Given the description of an element on the screen output the (x, y) to click on. 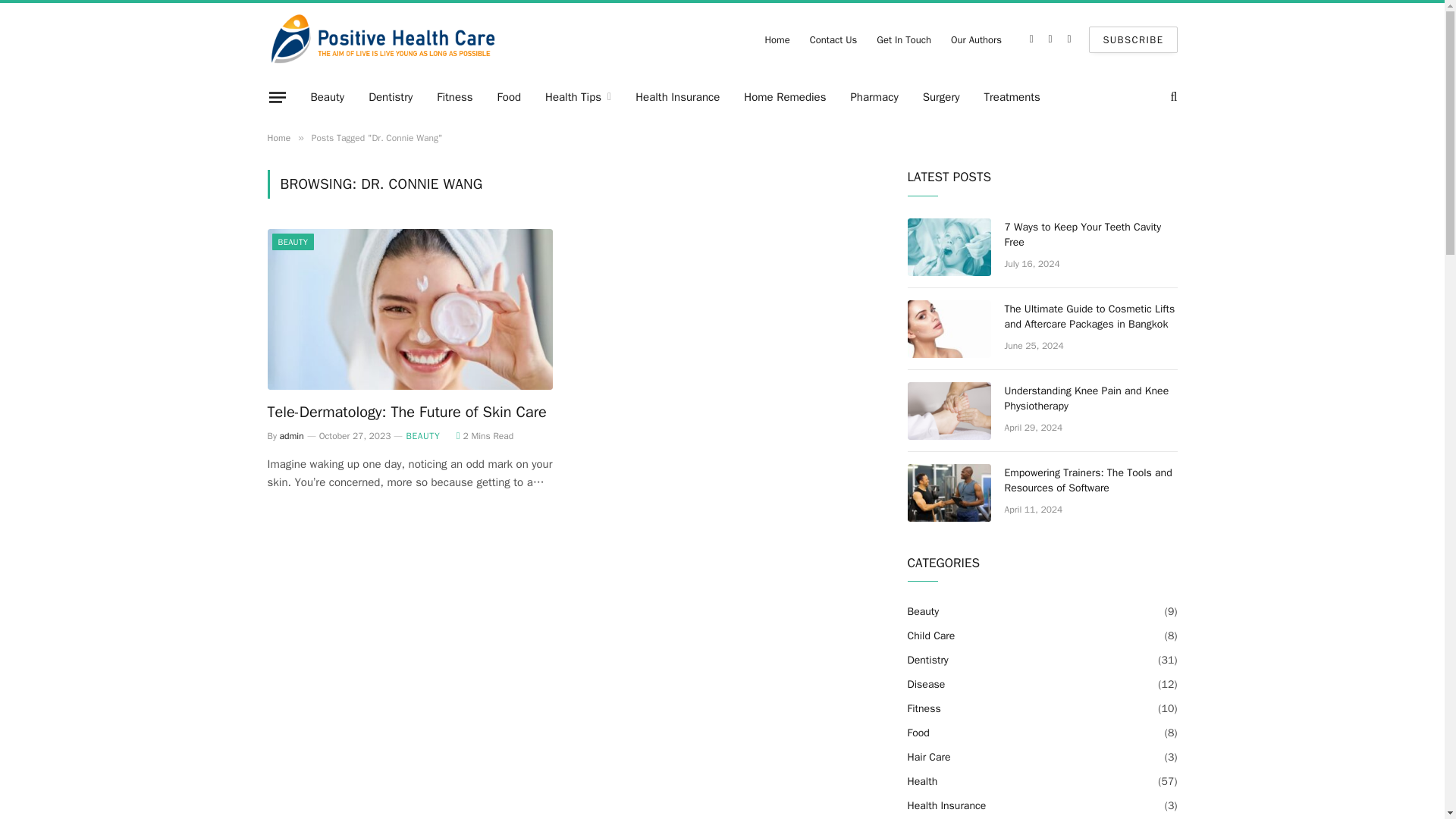
Positive Healthcare (381, 38)
Contact Us (833, 39)
Tele-Dermatology: The Future of Skin Care (408, 309)
Surgery (941, 96)
Get In Touch (903, 39)
Fitness (454, 96)
Beauty (327, 96)
Posts by admin (291, 435)
Food (508, 96)
Empowering Trainers: The Tools and Resources of Software (948, 492)
SUBSCRIBE (1132, 38)
Health Tips (577, 96)
Health Insurance (677, 96)
Dentistry (390, 96)
Tele-Dermatology: The Future of Skin Care (408, 412)
